Given the description of an element on the screen output the (x, y) to click on. 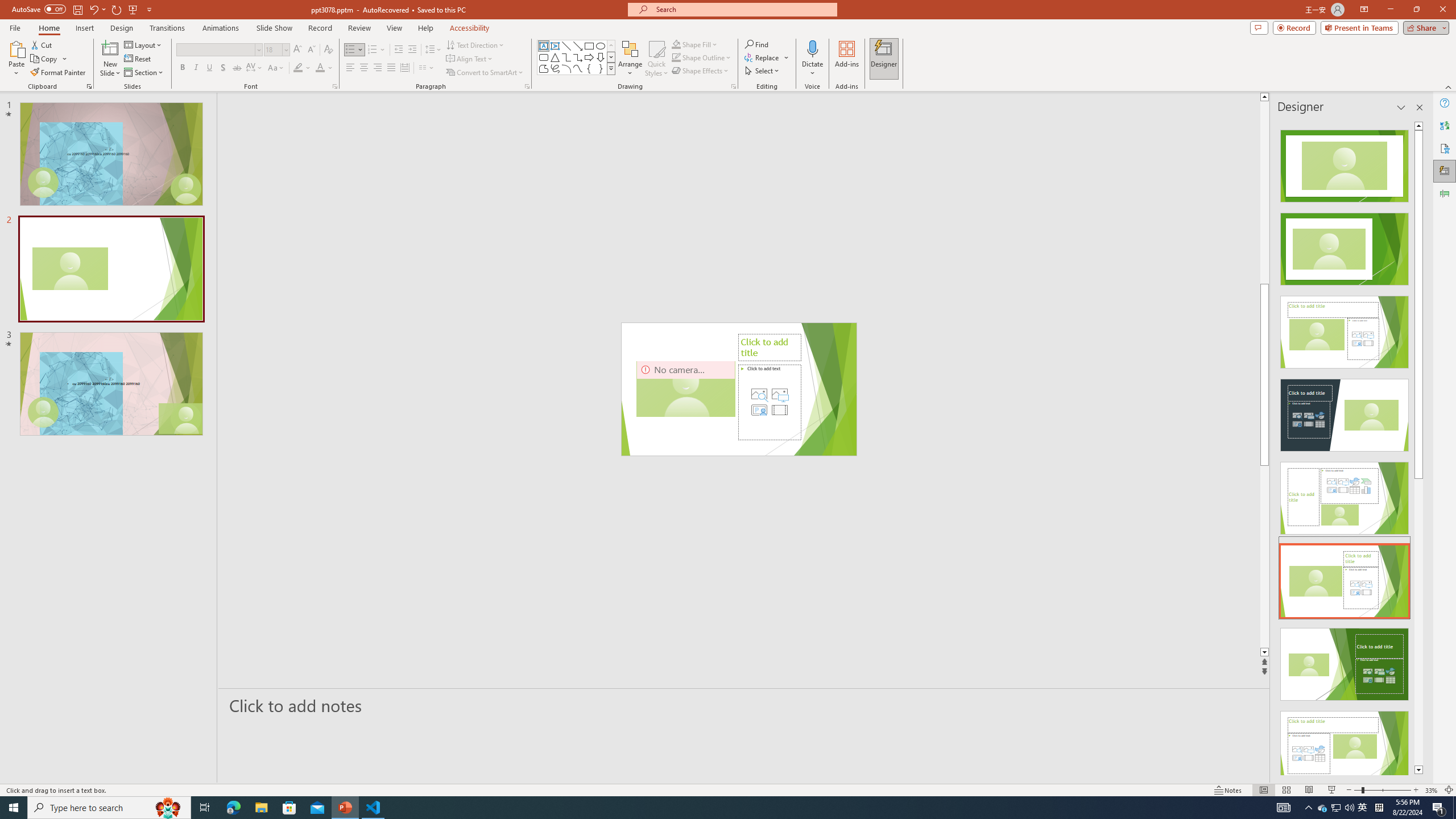
Shape Outline Green, Accent 1 (675, 56)
Insert Video (779, 409)
